Given the description of an element on the screen output the (x, y) to click on. 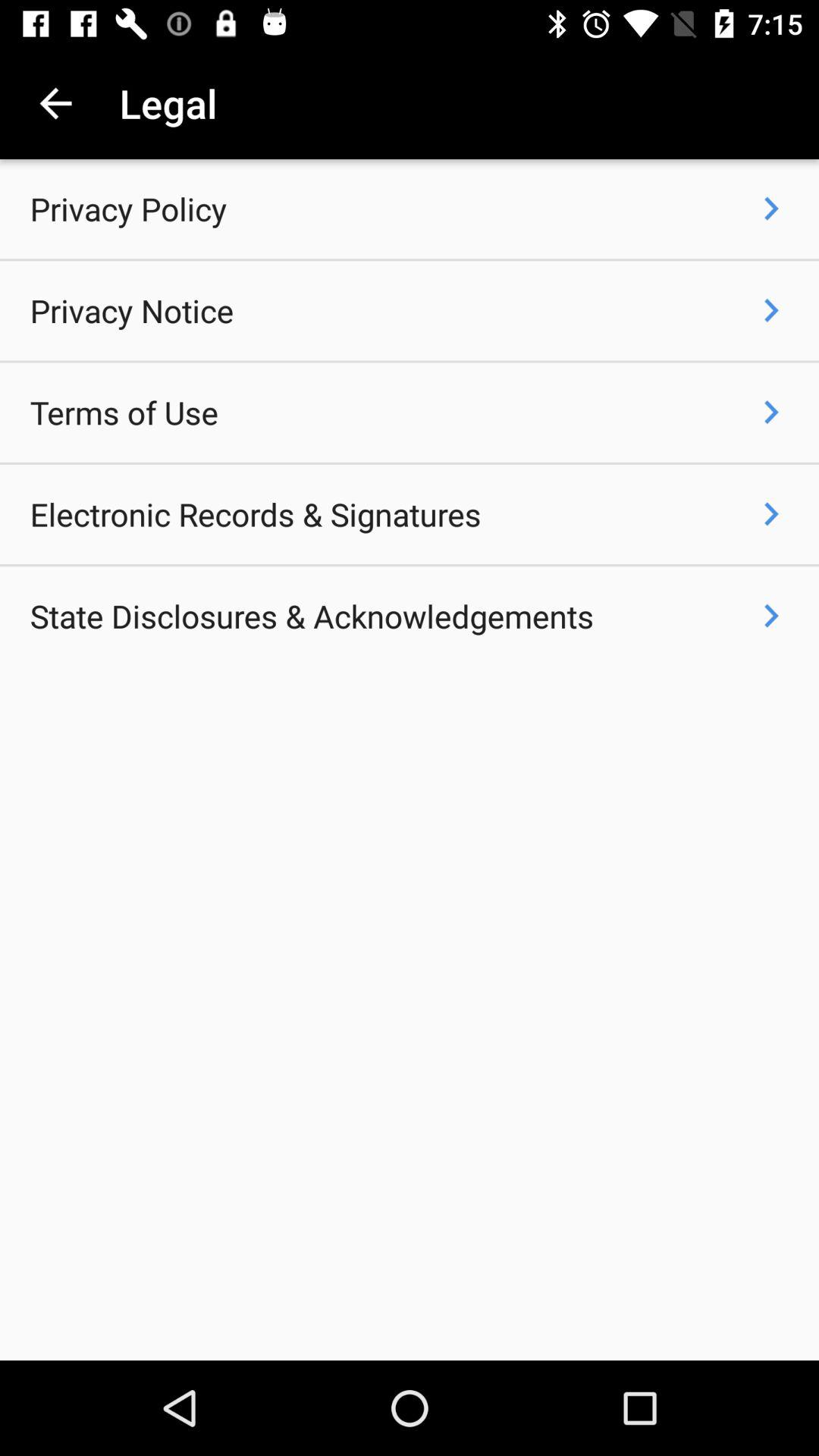
tap the icon above privacy notice item (128, 208)
